Given the description of an element on the screen output the (x, y) to click on. 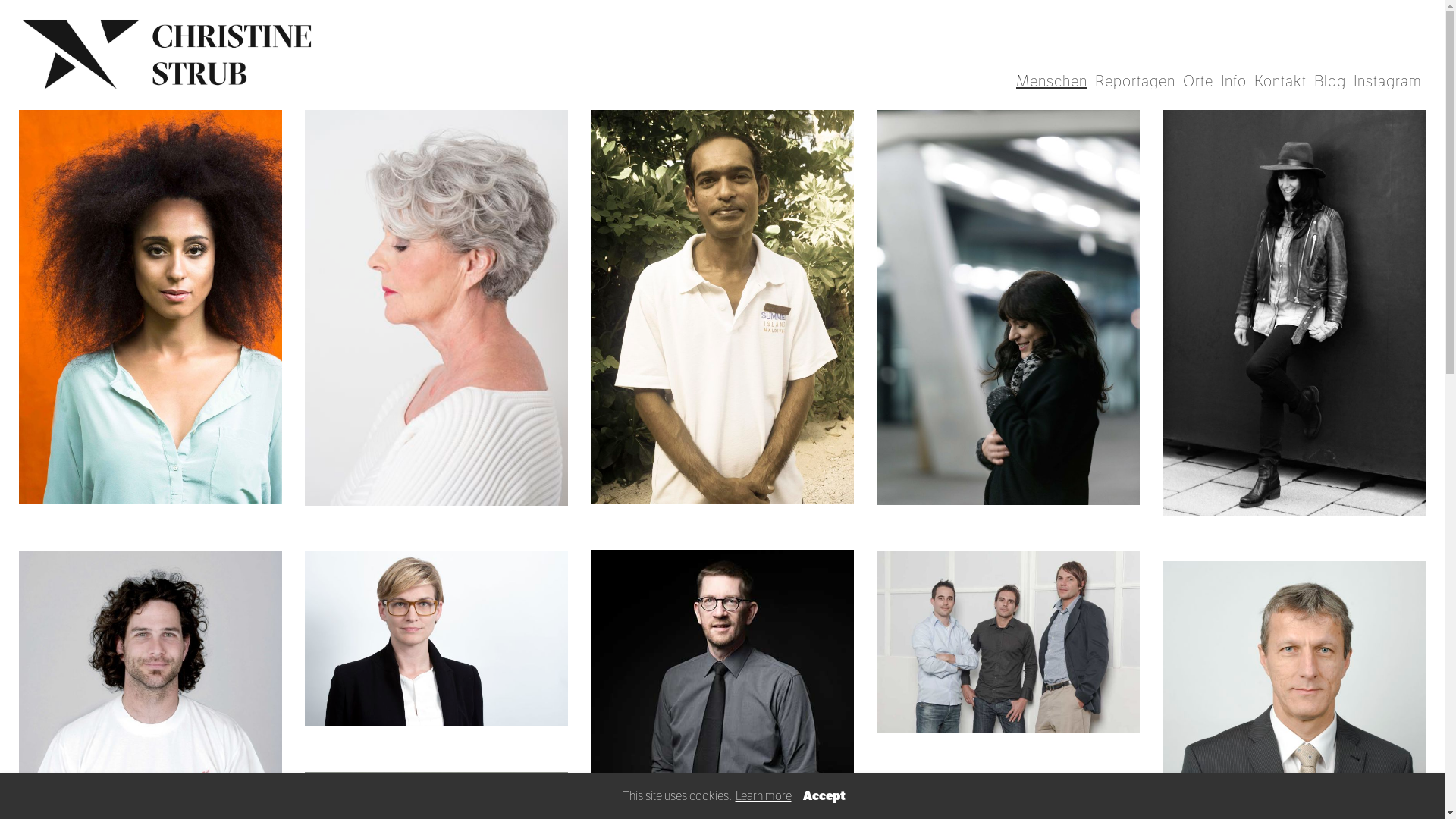
Orte Element type: text (1198, 81)
Accept Element type: text (823, 795)
Kontakt Element type: text (1280, 81)
Reportagen Element type: text (1135, 81)
Instagram Element type: text (1387, 81)
Learn more Element type: text (762, 795)
Menschen Element type: text (1051, 81)
allyou.net Element type: text (1420, 807)
Info Element type: text (1233, 81)
Blog Element type: text (1330, 81)
